Given the description of an element on the screen output the (x, y) to click on. 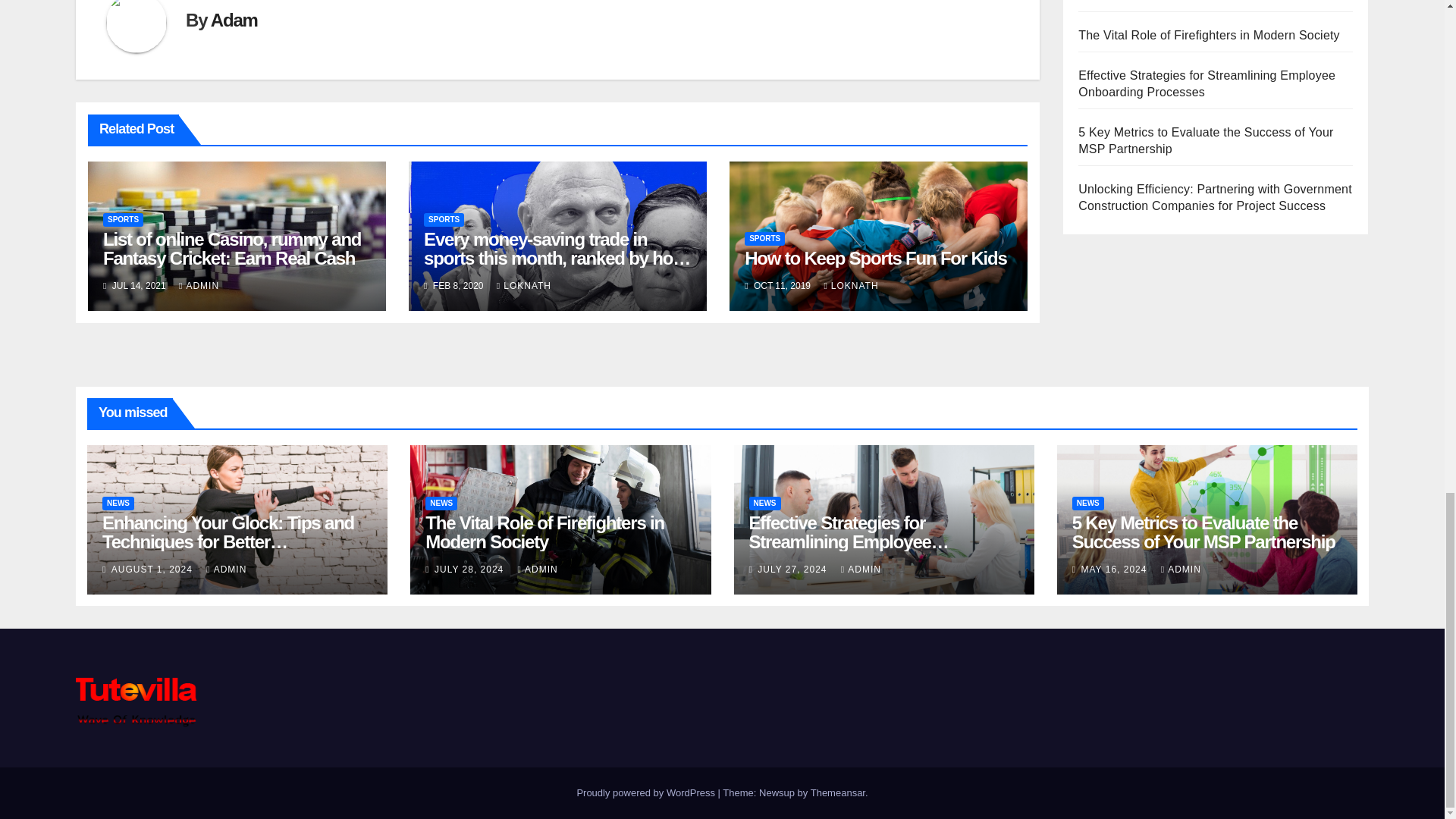
Adam (234, 19)
LOKNATH (523, 285)
SPORTS (122, 219)
SPORTS (443, 219)
ADMIN (199, 285)
